Given the description of an element on the screen output the (x, y) to click on. 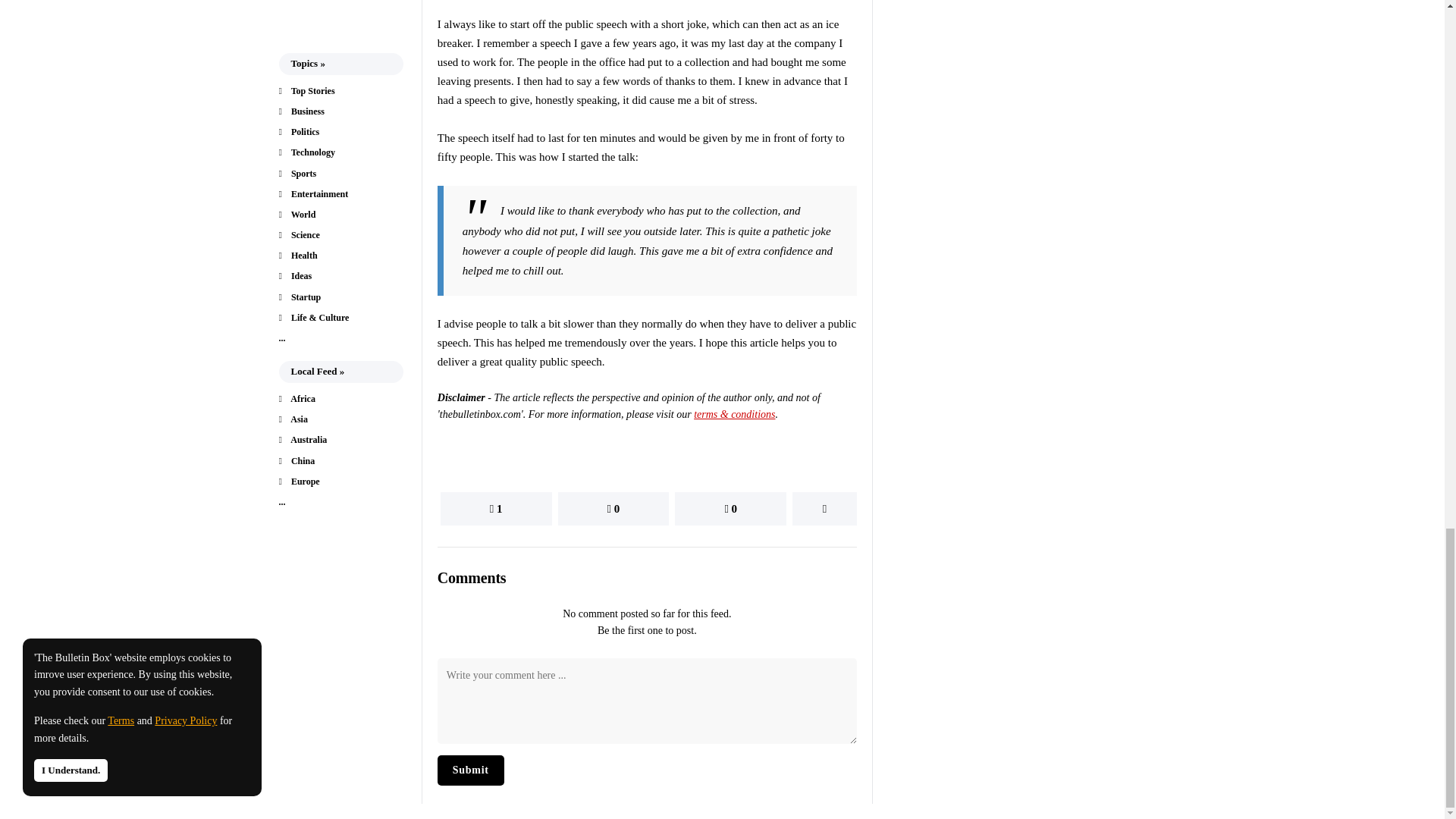
Submit (470, 770)
Pin (729, 508)
Like (495, 508)
